Given the description of an element on the screen output the (x, y) to click on. 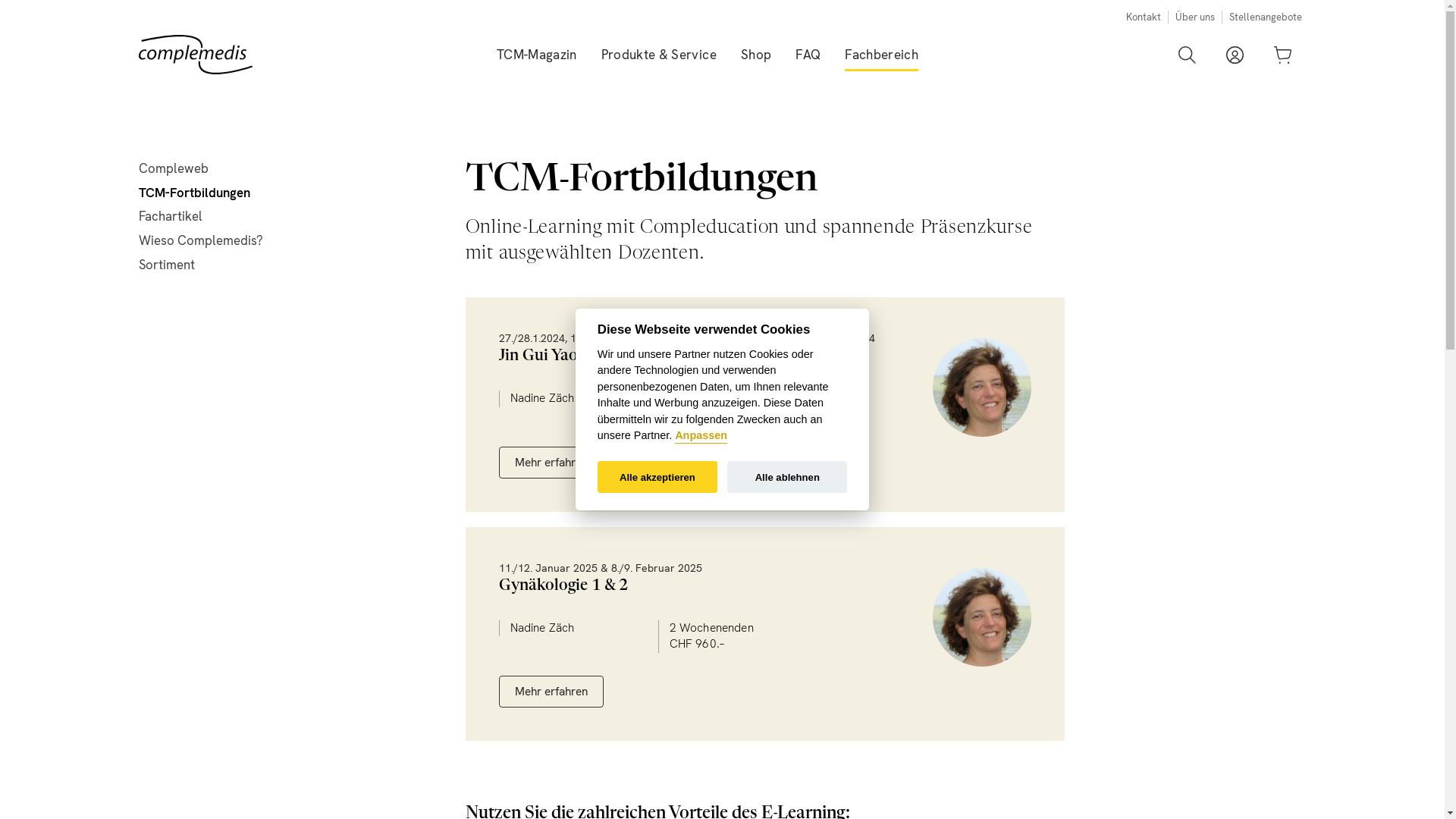
Fachartikel Element type: text (169, 216)
Anpassen Element type: text (700, 436)
TCM-Fortbildungen Element type: text (193, 192)
Mehr erfahren Element type: text (550, 462)
Shop Element type: text (755, 54)
Produkte & Service Element type: text (658, 54)
Mehr erfahren Element type: text (550, 691)
Alle ablehnen Element type: text (787, 477)
Sortiment Element type: text (166, 264)
FAQ Element type: text (807, 54)
Kontakt Element type: text (1142, 16)
TCM-Magazin Element type: text (536, 54)
Alle akzeptieren Element type: text (657, 477)
Wieso Complemedis? Element type: text (200, 240)
Fachbereich Element type: text (881, 54)
Compleweb Element type: text (172, 168)
Stellenangebote Element type: text (1264, 16)
